Given the description of an element on the screen output the (x, y) to click on. 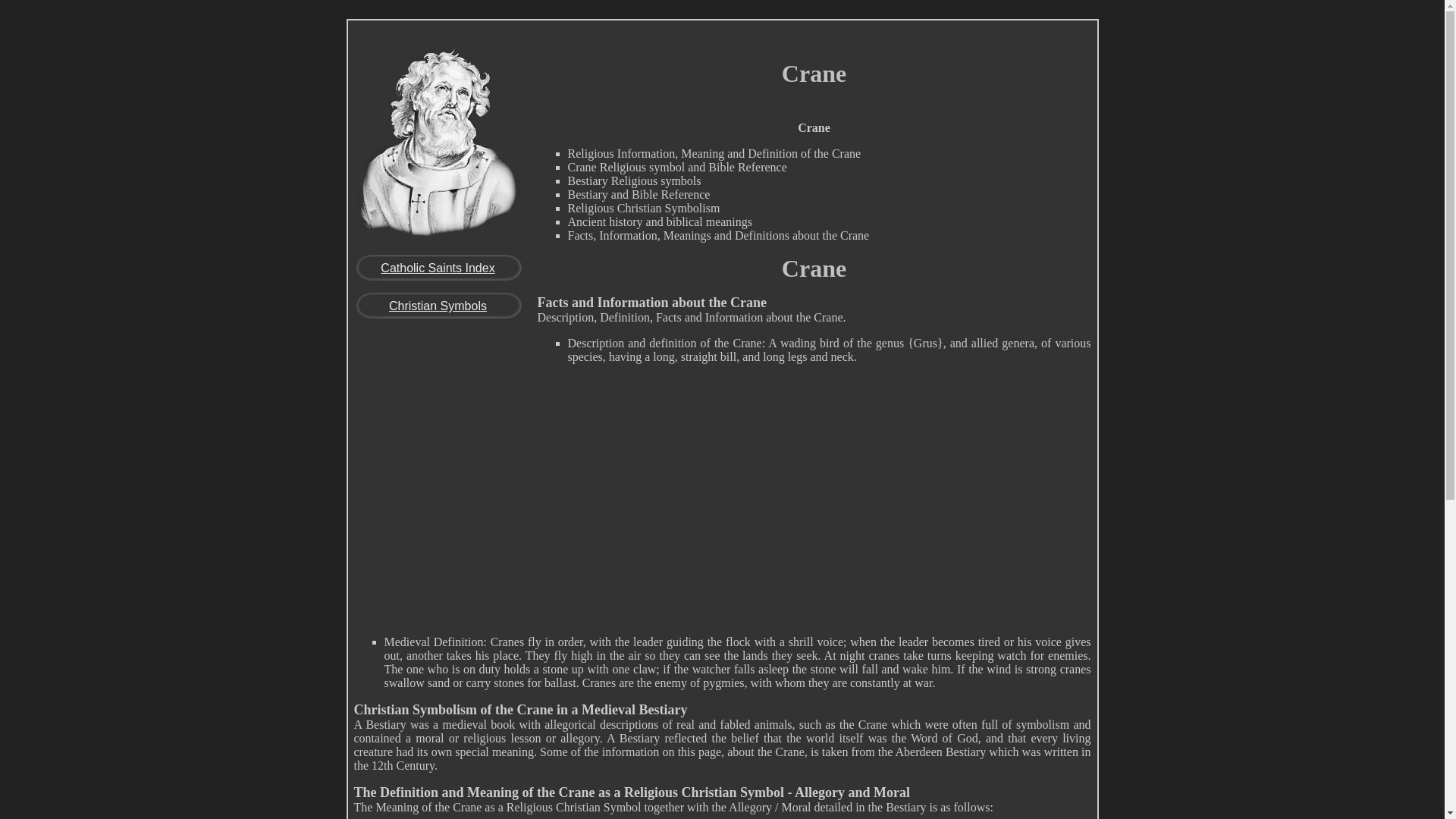
Catholic Saints Index (437, 267)
Christian Symbols (437, 305)
